Given the description of an element on the screen output the (x, y) to click on. 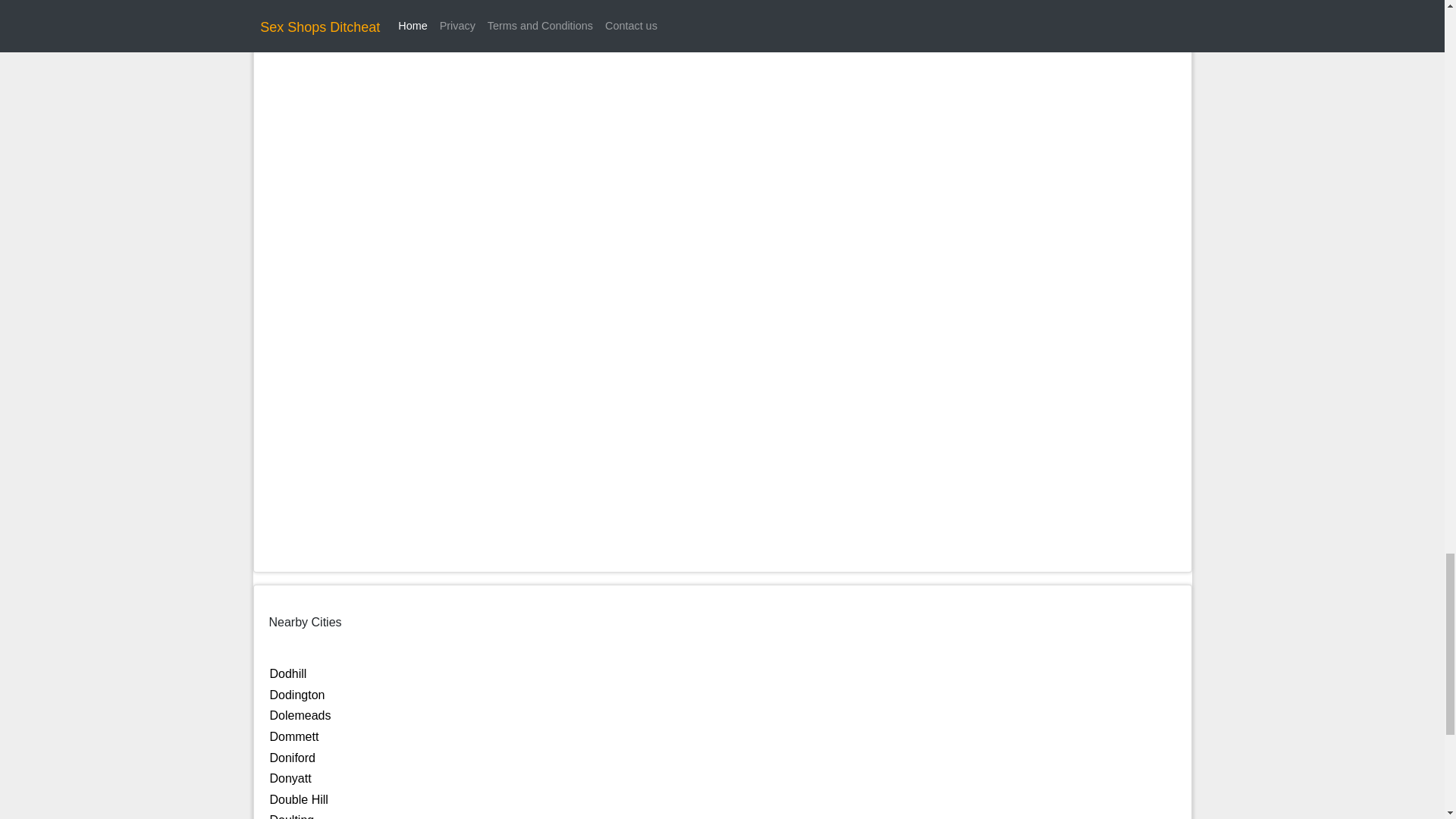
Double Hill (299, 799)
Donyatt (290, 778)
Doniford (292, 757)
Dolemeads (300, 715)
Dodhill (288, 673)
Doulting (291, 816)
Dodington (296, 694)
Dommett (293, 736)
